Given the description of an element on the screen output the (x, y) to click on. 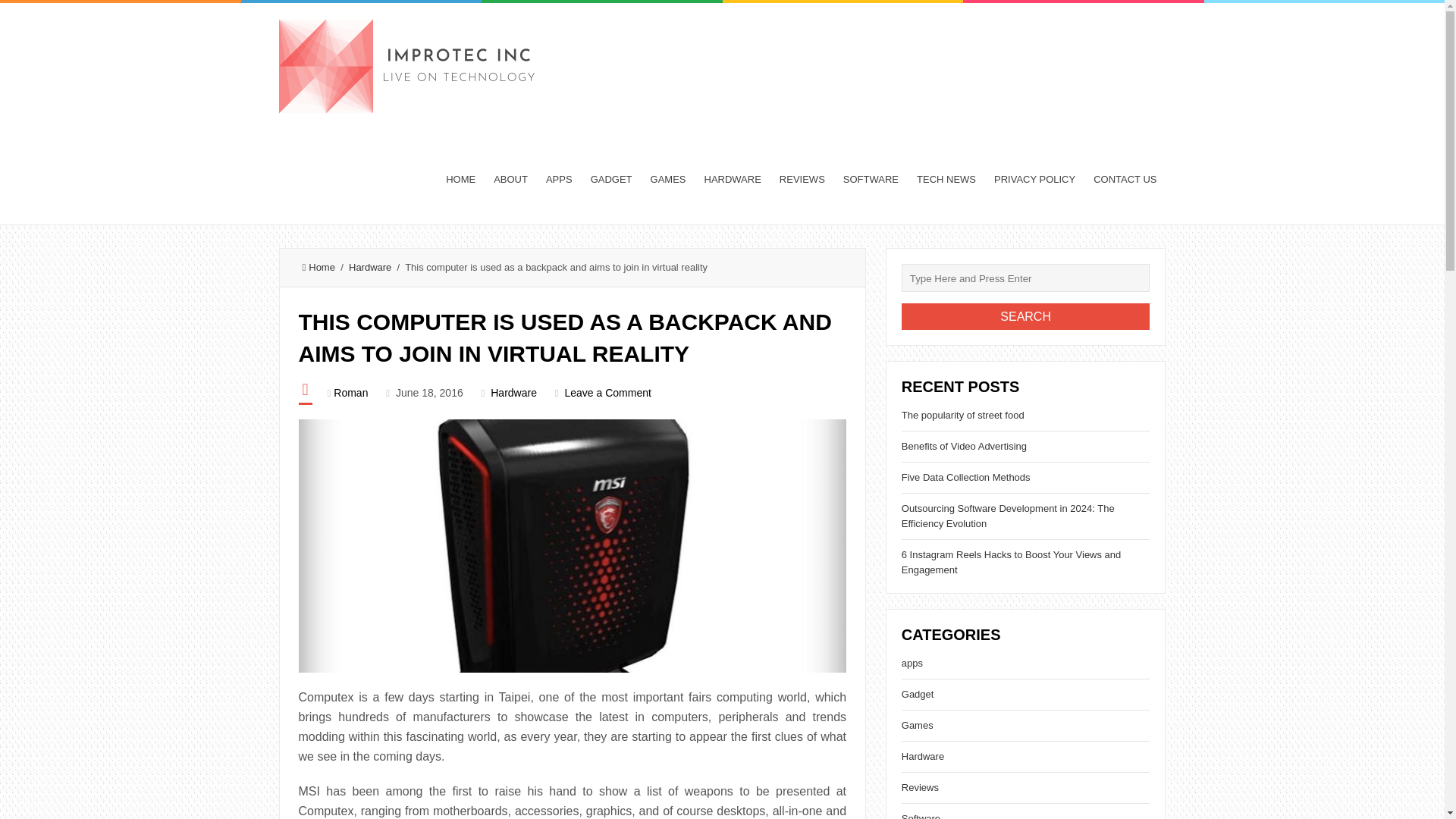
The popularity of street food (963, 414)
apps (912, 663)
Hardware (513, 392)
Home (317, 266)
6 Instagram Reels Hacks to Boost Your Views and Engagement (1011, 561)
Posts by Roman (350, 392)
Search (1025, 316)
Roman (350, 392)
Search (1025, 316)
June 18, 2016 (429, 392)
Benefits of Video Advertising (963, 446)
Search (1025, 316)
Gadget (917, 694)
Hardware (370, 266)
